Given the description of an element on the screen output the (x, y) to click on. 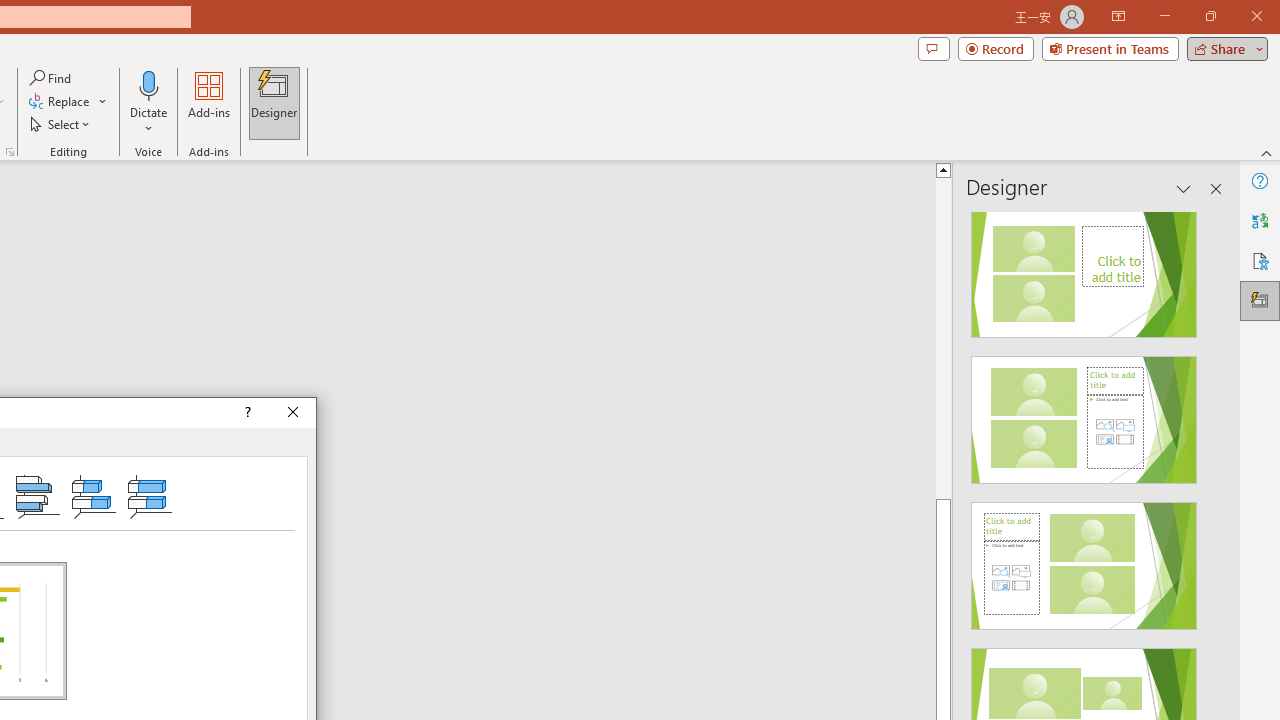
Design Idea (1083, 559)
